Given the description of an element on the screen output the (x, y) to click on. 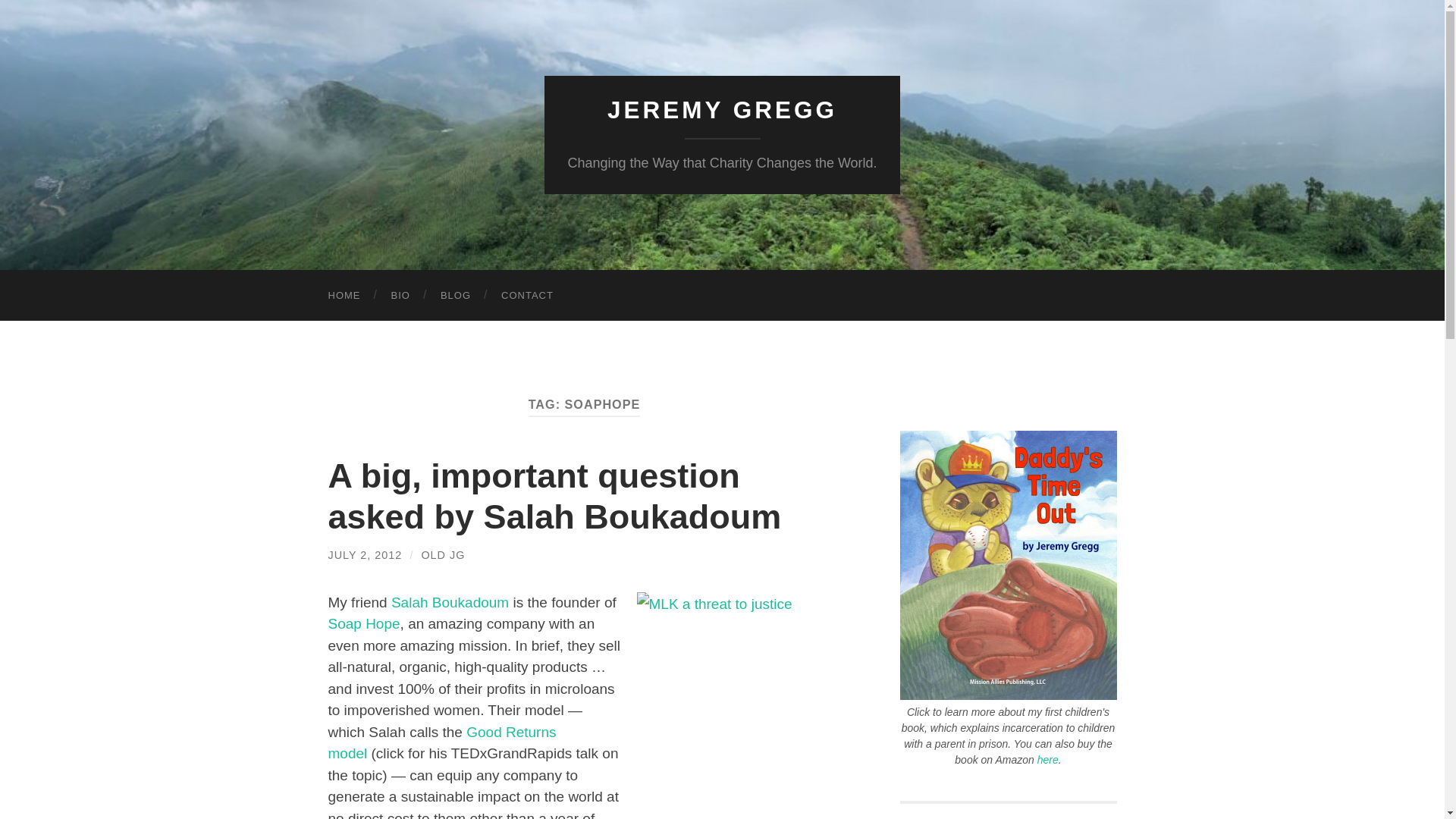
Salah Boukadoum (449, 602)
BIO (400, 295)
CONTACT (527, 295)
JEREMY GREGG (722, 109)
Soap Hope (362, 623)
Daddy's Time Out on Amazon (1047, 759)
HOME (344, 295)
OLD JG (442, 554)
Good Returns model (441, 742)
Salah Boukadoum (449, 602)
Good Returns model (441, 742)
A big, important question asked by Salah Boukadoum (553, 496)
Daddy's Time Out (1007, 695)
BLOG (455, 295)
Posts by old jg (442, 554)
